Given the description of an element on the screen output the (x, y) to click on. 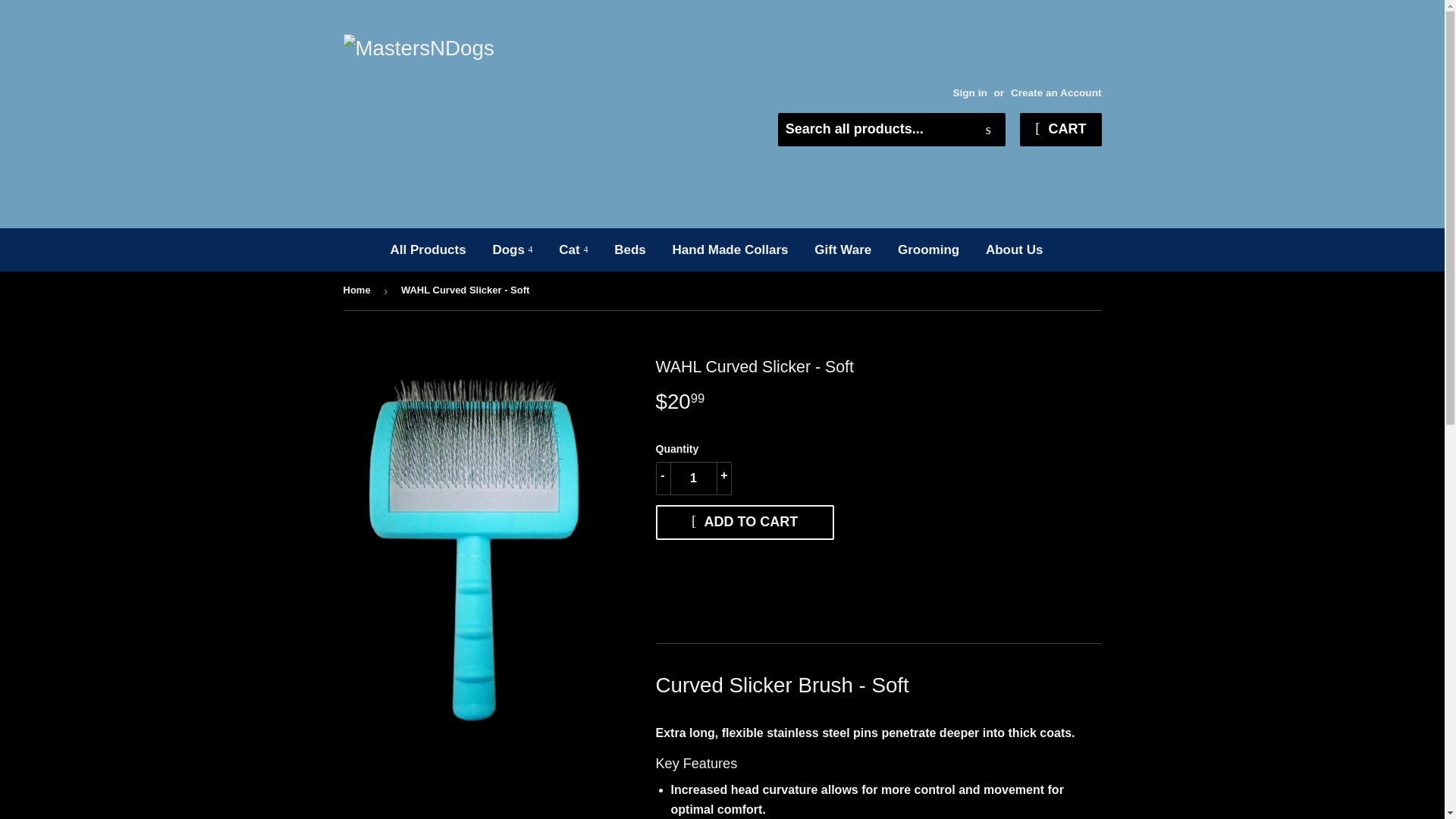
Sign in (969, 92)
Create an Account (1056, 92)
Search (988, 129)
1 (692, 478)
CART (1060, 128)
